Given the description of an element on the screen output the (x, y) to click on. 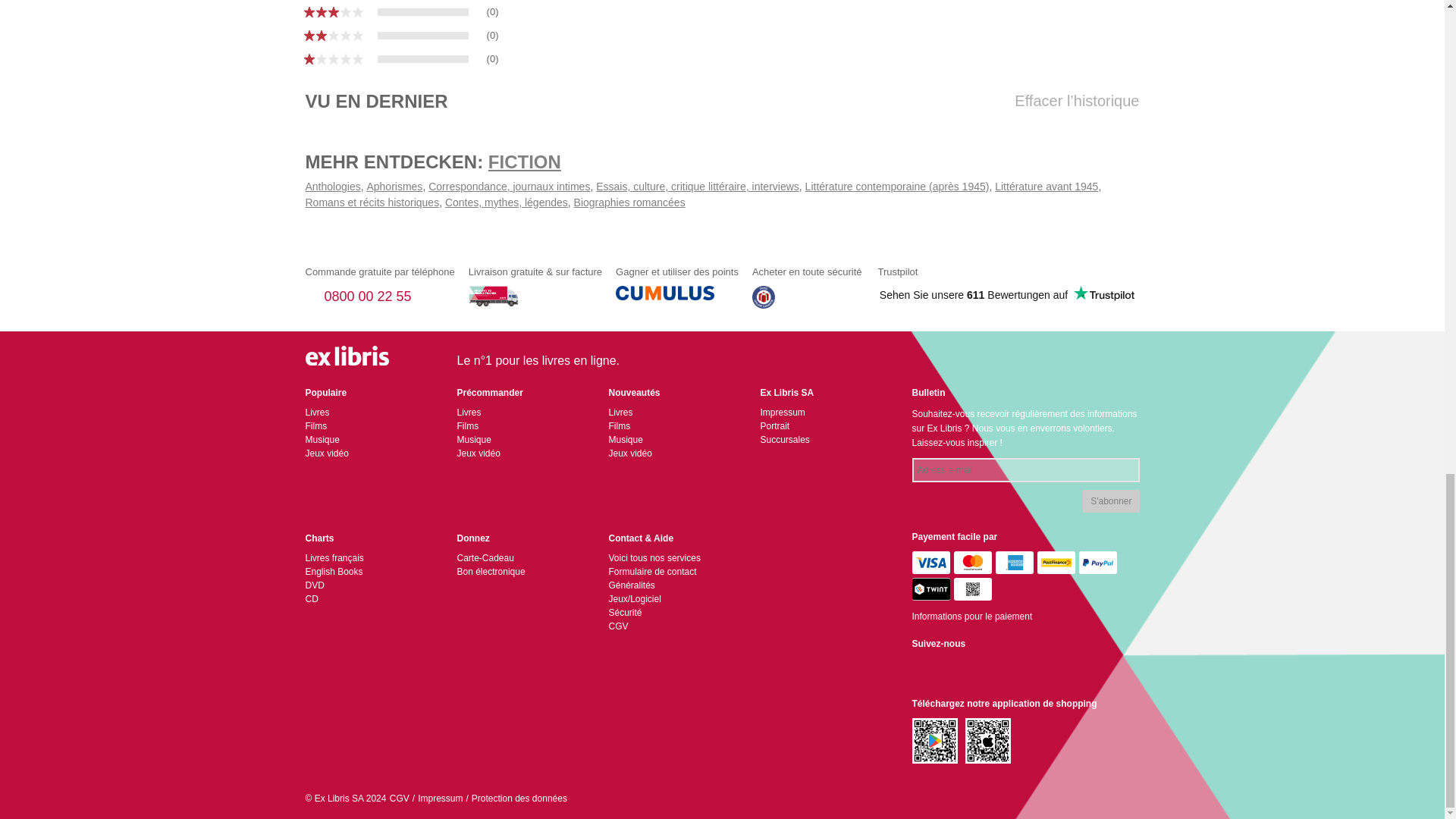
Customer reviews powered by Trustpilot (1006, 294)
